Given the description of an element on the screen output the (x, y) to click on. 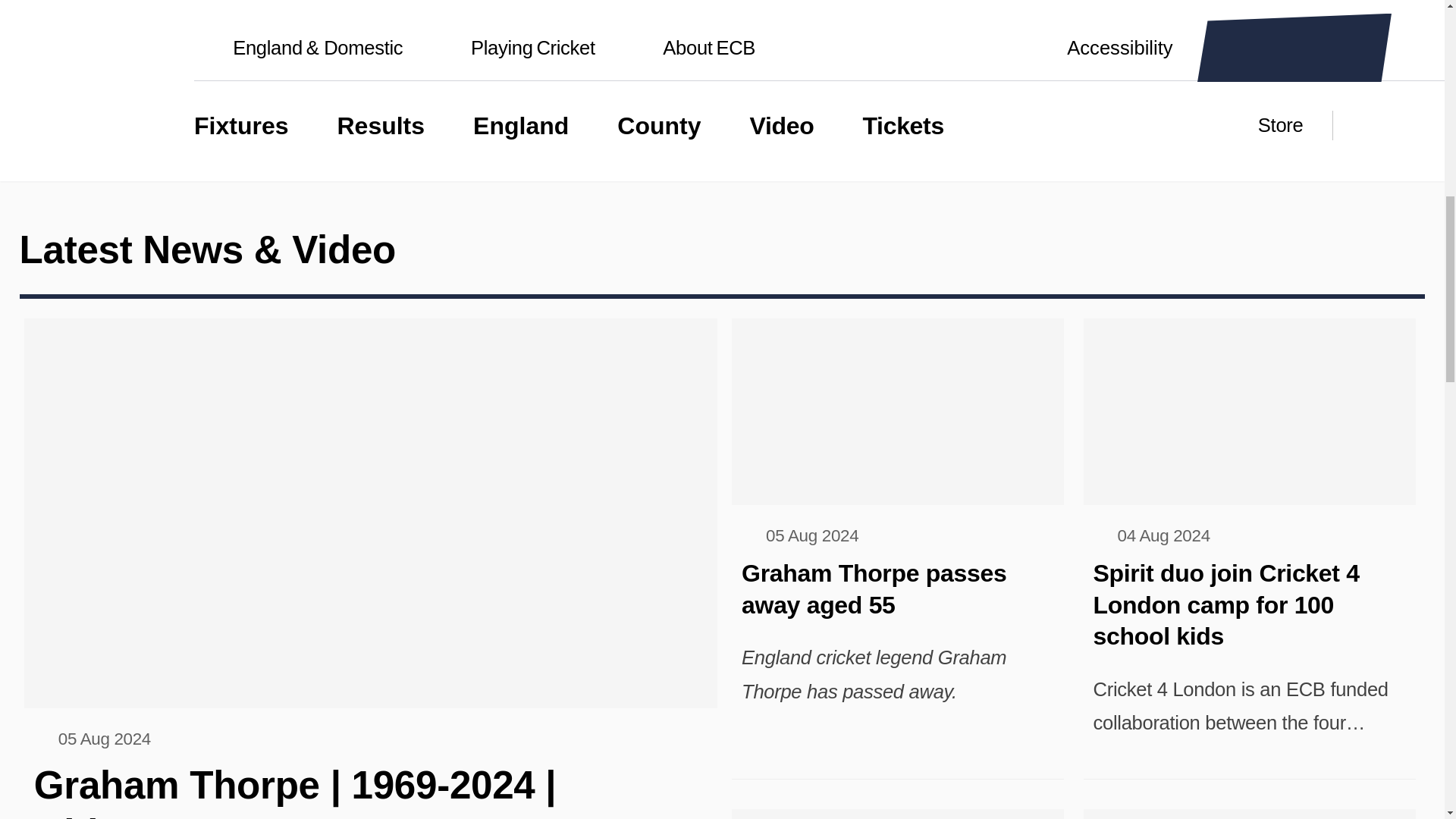
England Men announce Test Squad for Sri Lanka Series (1249, 814)
Somerset hosts first-ever South West Super 1s festival (898, 814)
We're Stumped (179, 20)
